Given the description of an element on the screen output the (x, y) to click on. 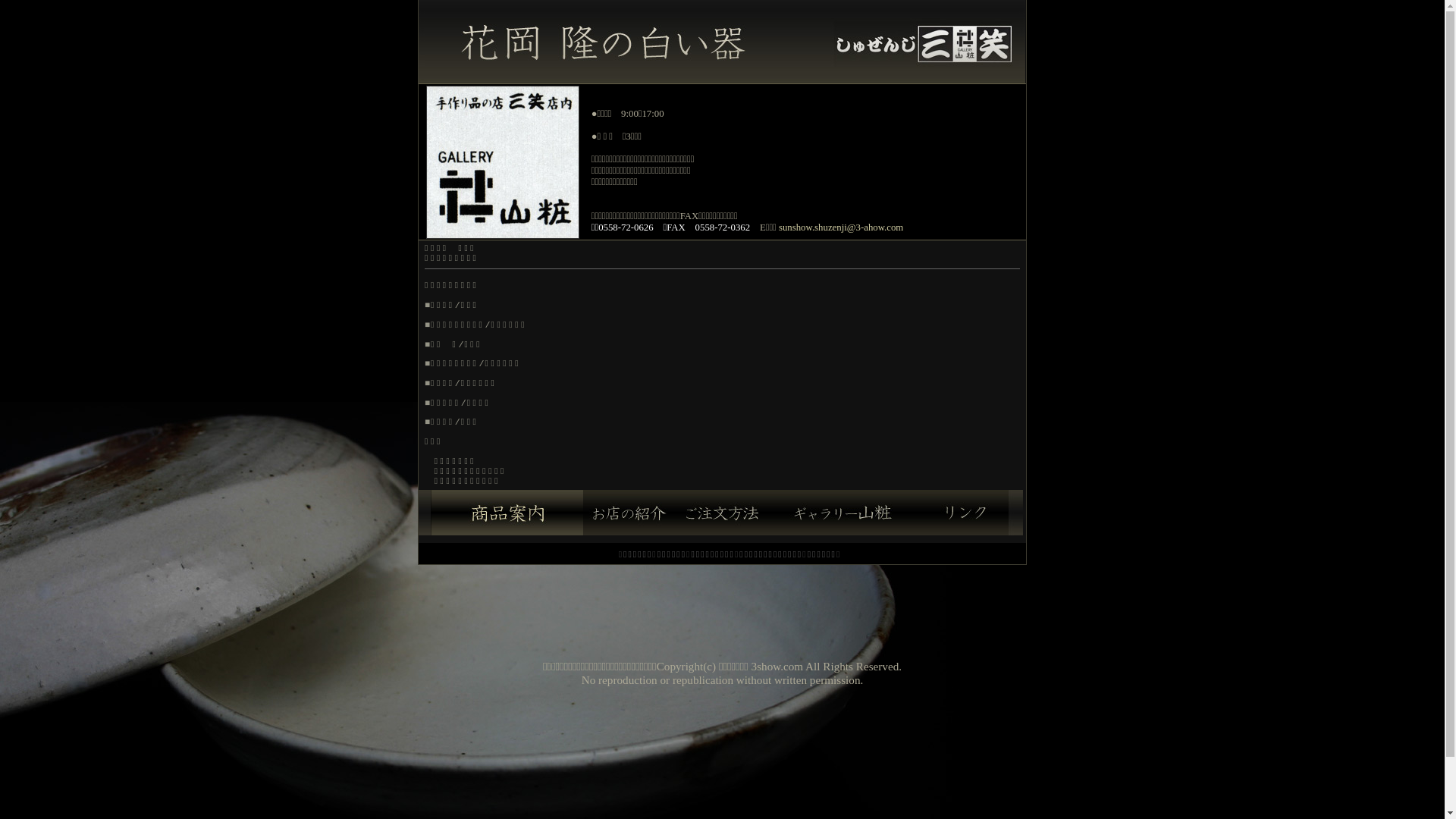
sunshow.shuzenji@3-ahow.com Element type: text (840, 227)
